Given the description of an element on the screen output the (x, y) to click on. 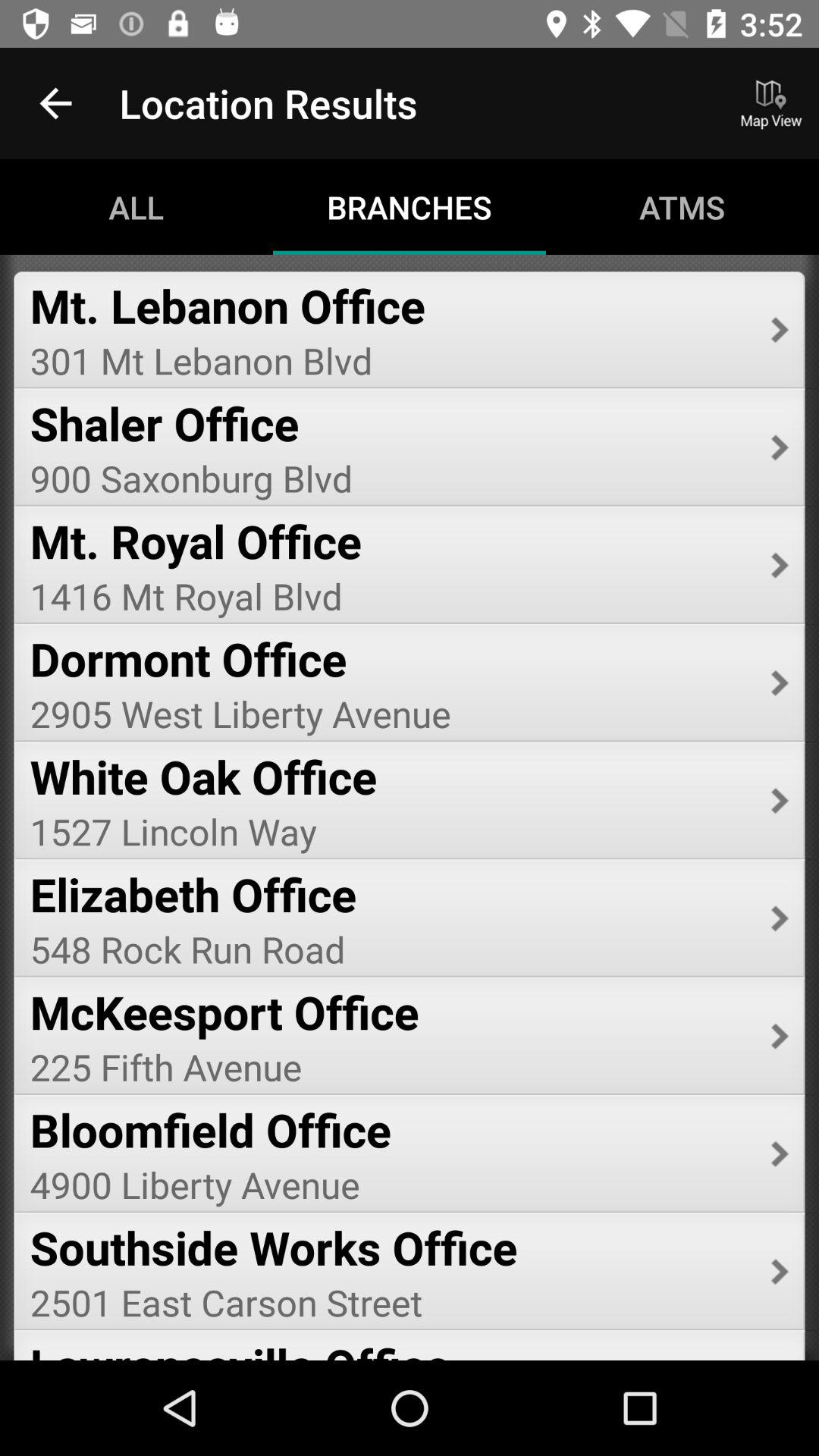
scroll to the 2905 west liberty icon (390, 713)
